Given the description of an element on the screen output the (x, y) to click on. 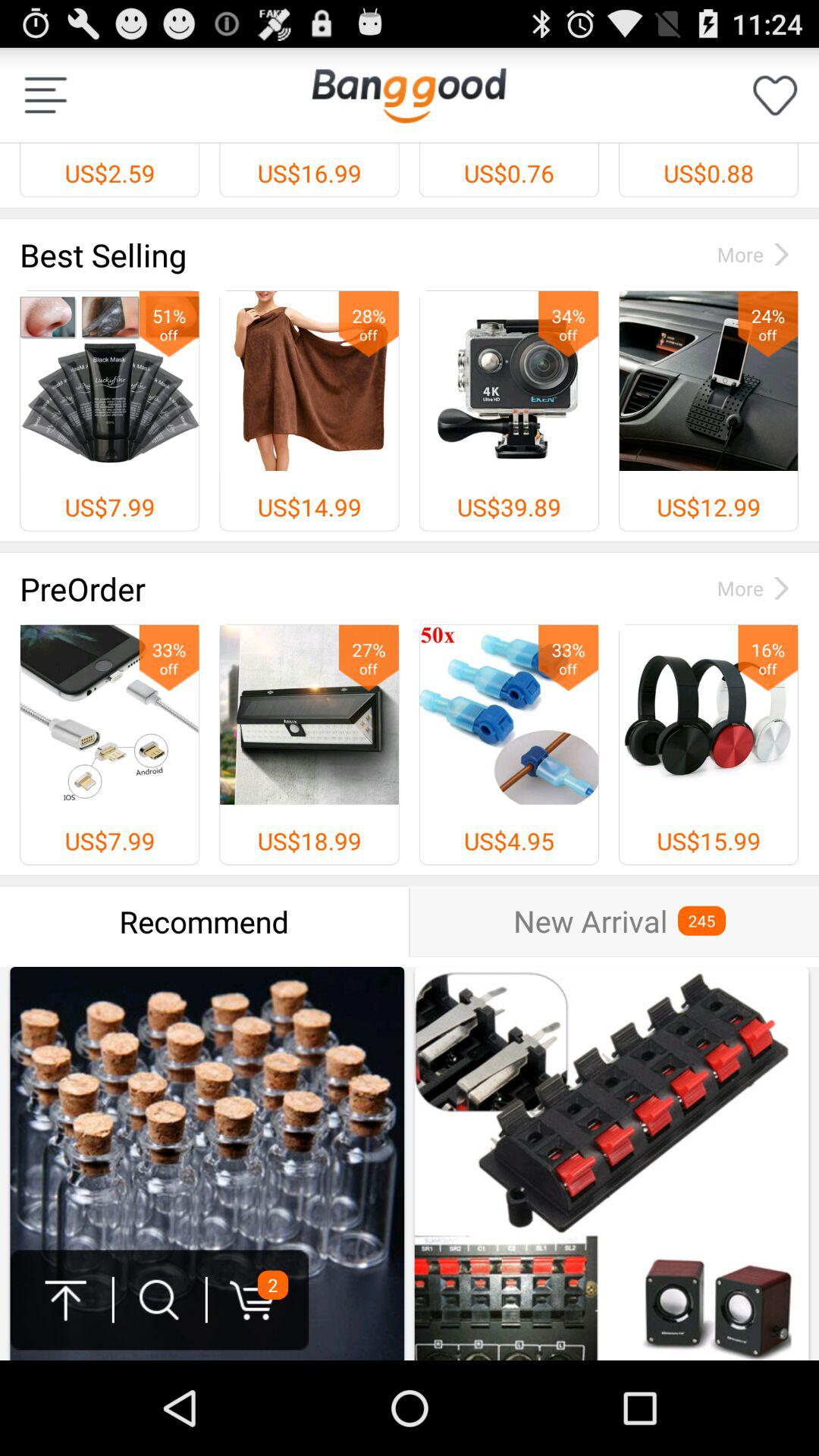
list options (45, 95)
